Given the description of an element on the screen output the (x, y) to click on. 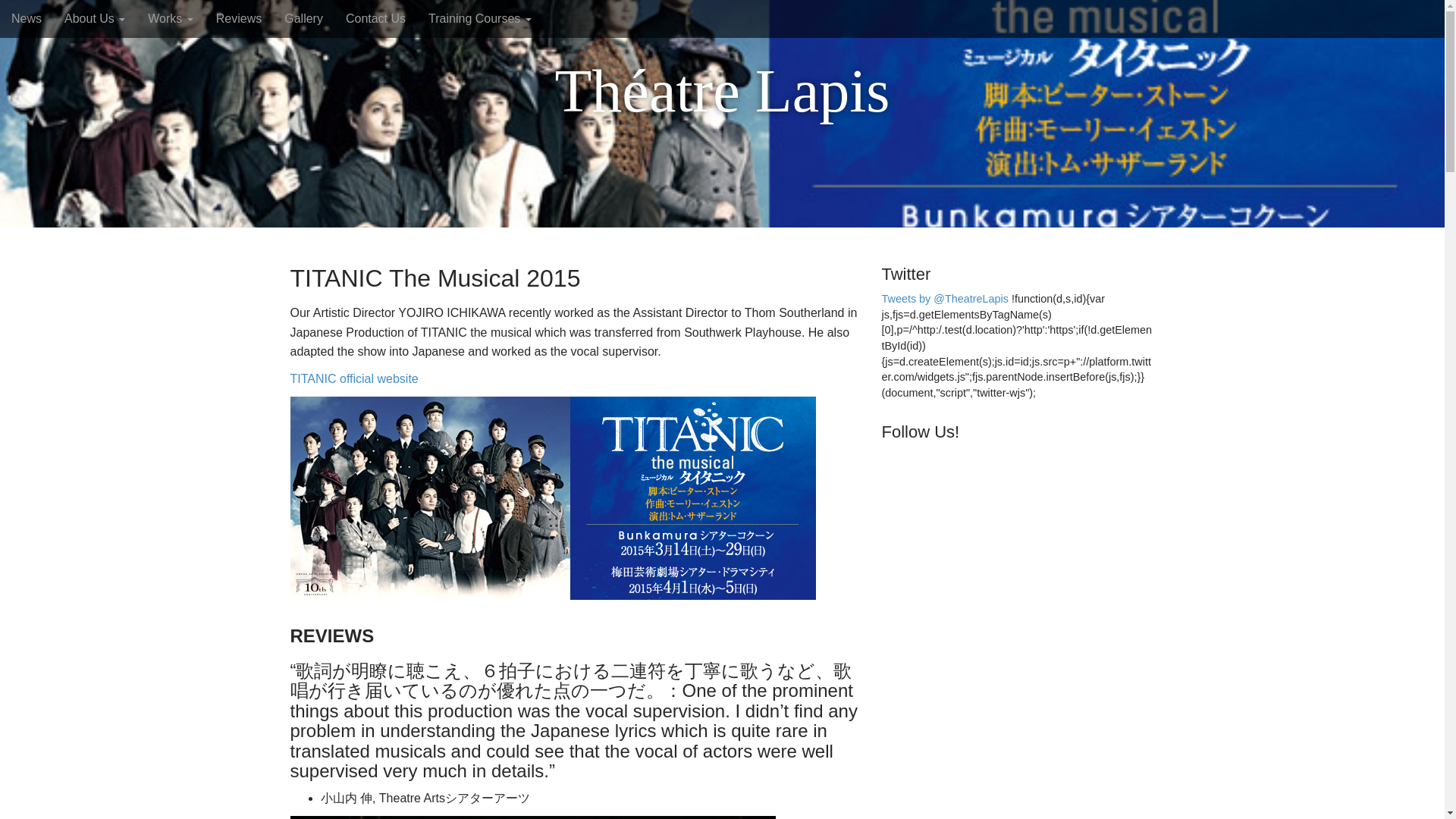
News (26, 18)
Works (169, 18)
About Us (94, 18)
TITANIC official website (353, 378)
